Given the description of an element on the screen output the (x, y) to click on. 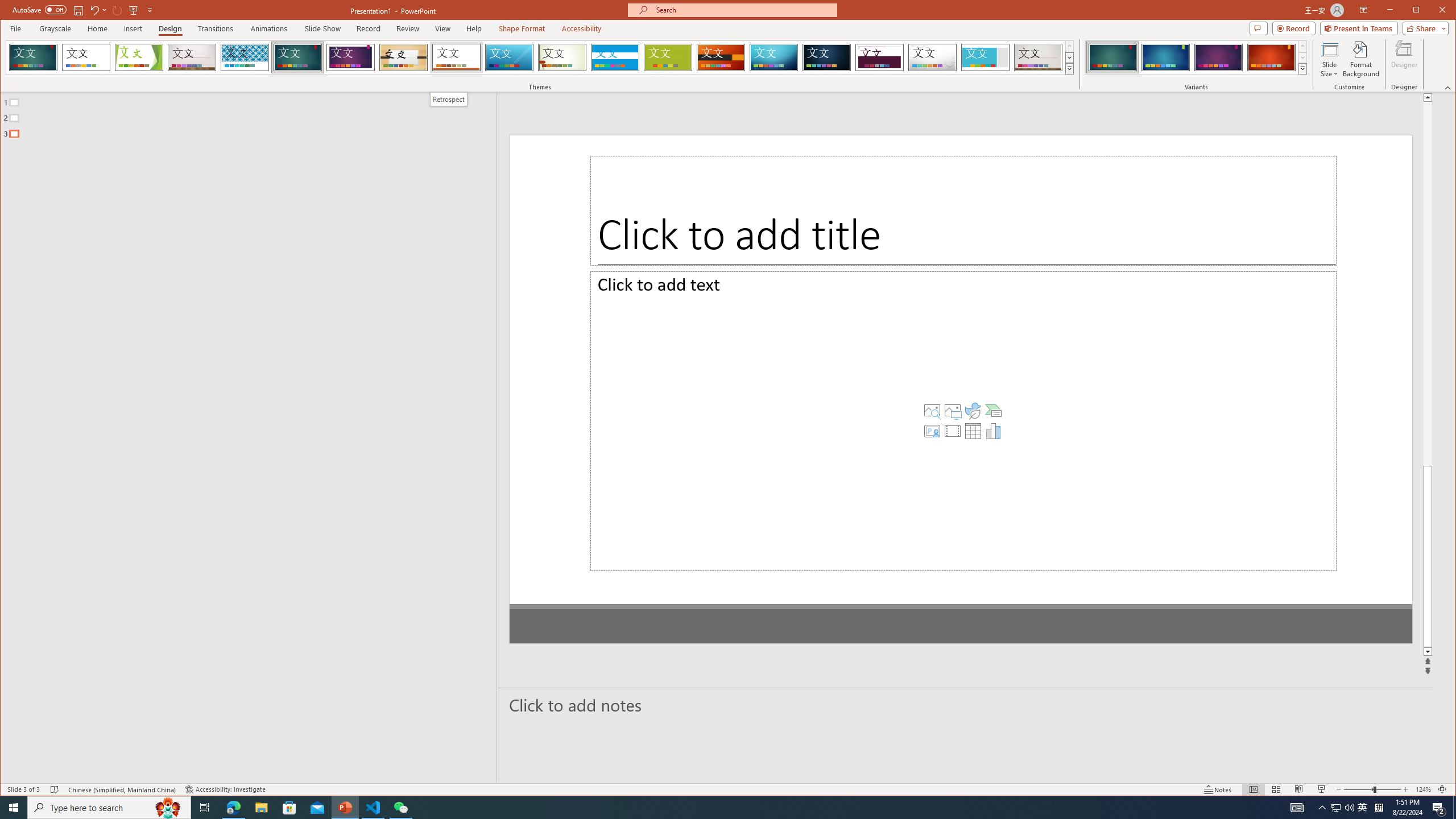
Banded (615, 57)
Themes (1069, 68)
Basis (668, 57)
